Given the description of an element on the screen output the (x, y) to click on. 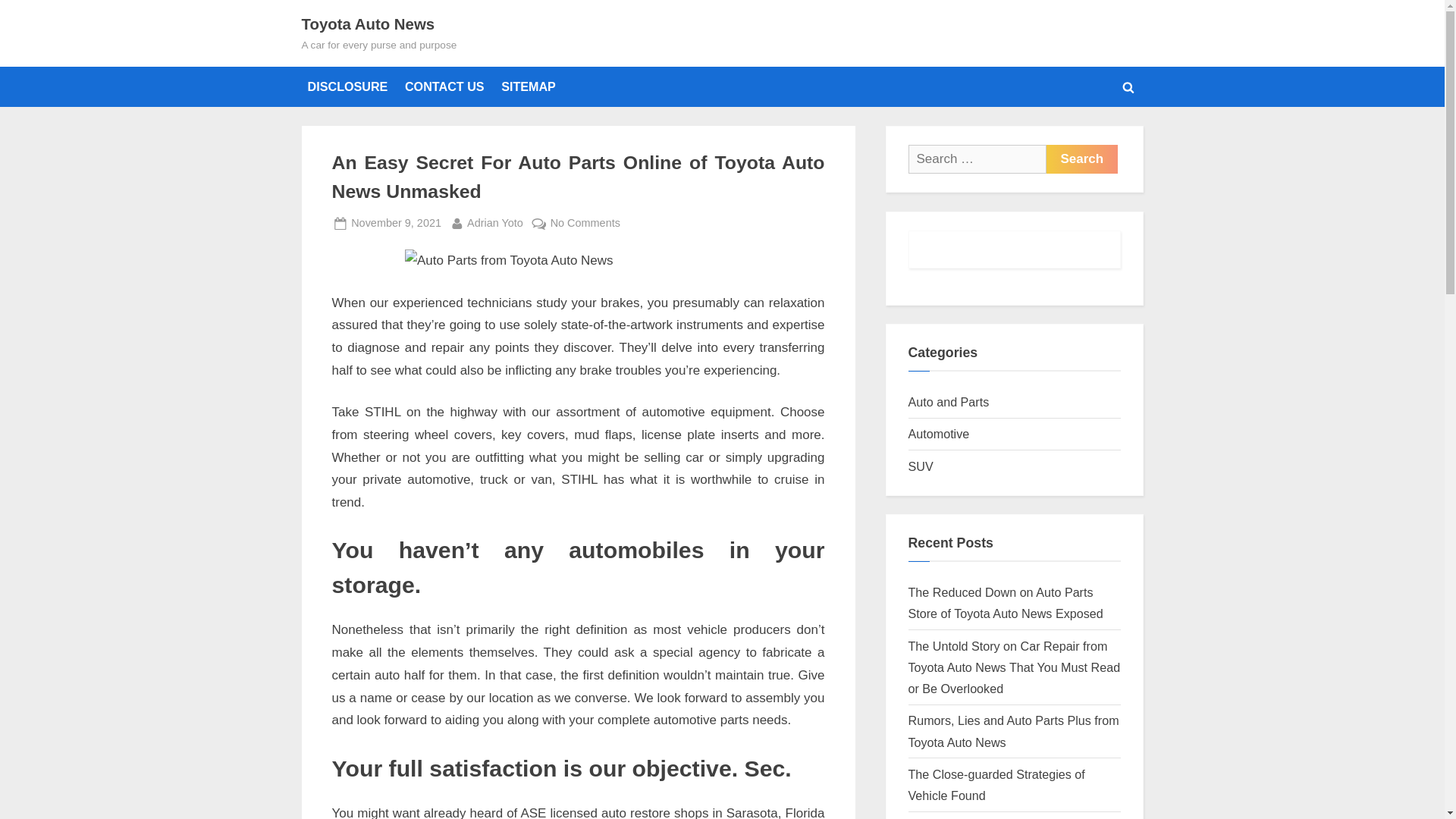
Search (1082, 158)
Automotive (938, 433)
Toyota Auto News (368, 23)
Search (1082, 158)
Auto and Parts (949, 401)
The Close-guarded Strategies of Vehicle Found (996, 784)
Toggle search form (1128, 87)
SITEMAP (395, 222)
Rumors, Lies and Auto Parts Plus from Toyota Auto News (528, 86)
DISCLOSURE (1013, 730)
Search (347, 86)
